Given the description of an element on the screen output the (x, y) to click on. 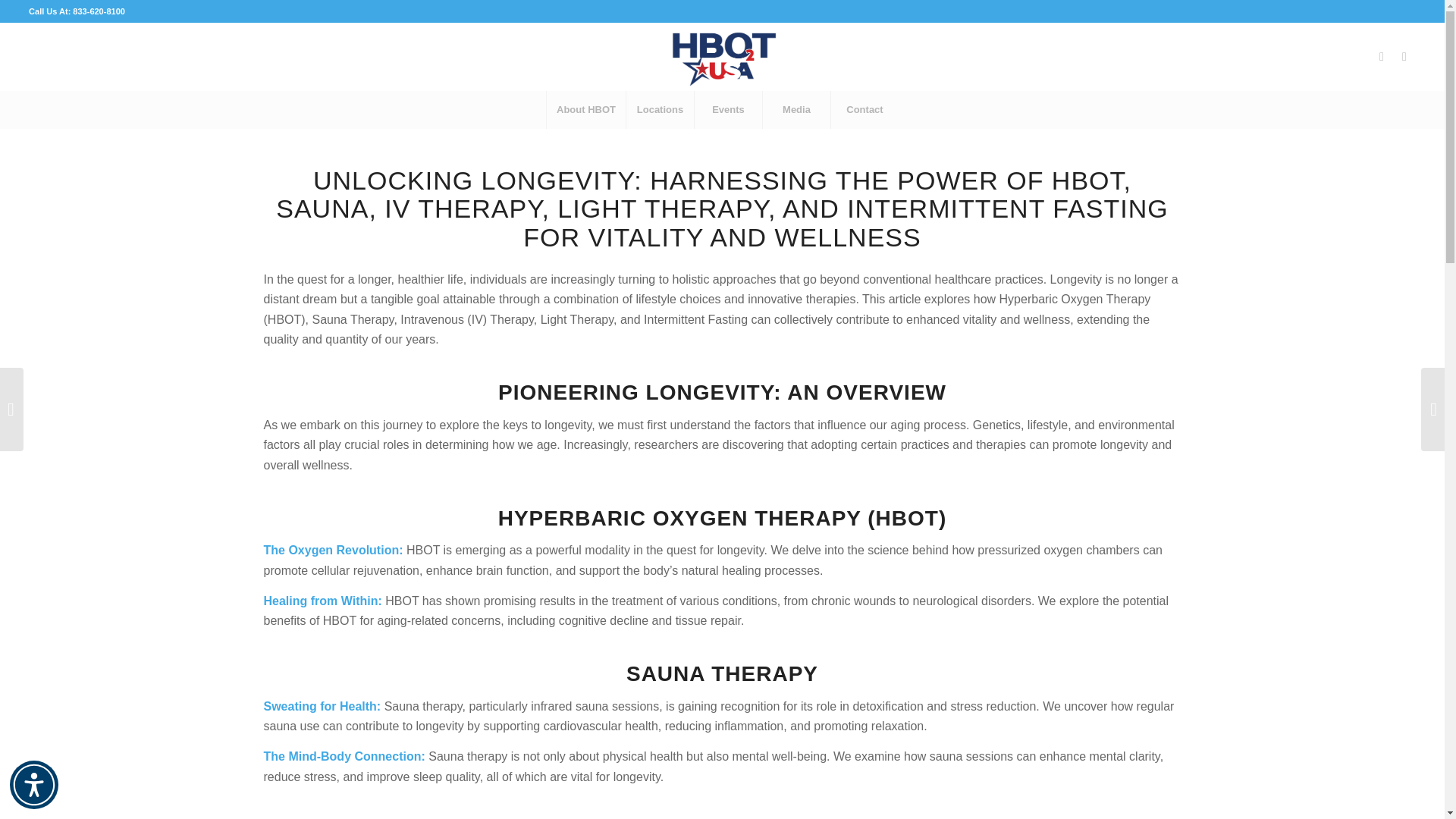
Locations (660, 109)
About HBOT (586, 109)
Events (727, 109)
Mail (1404, 56)
Facebook (1381, 56)
HBOT USA (721, 56)
Contact (863, 109)
Media (795, 109)
Accessibility Menu (34, 784)
